Given the description of an element on the screen output the (x, y) to click on. 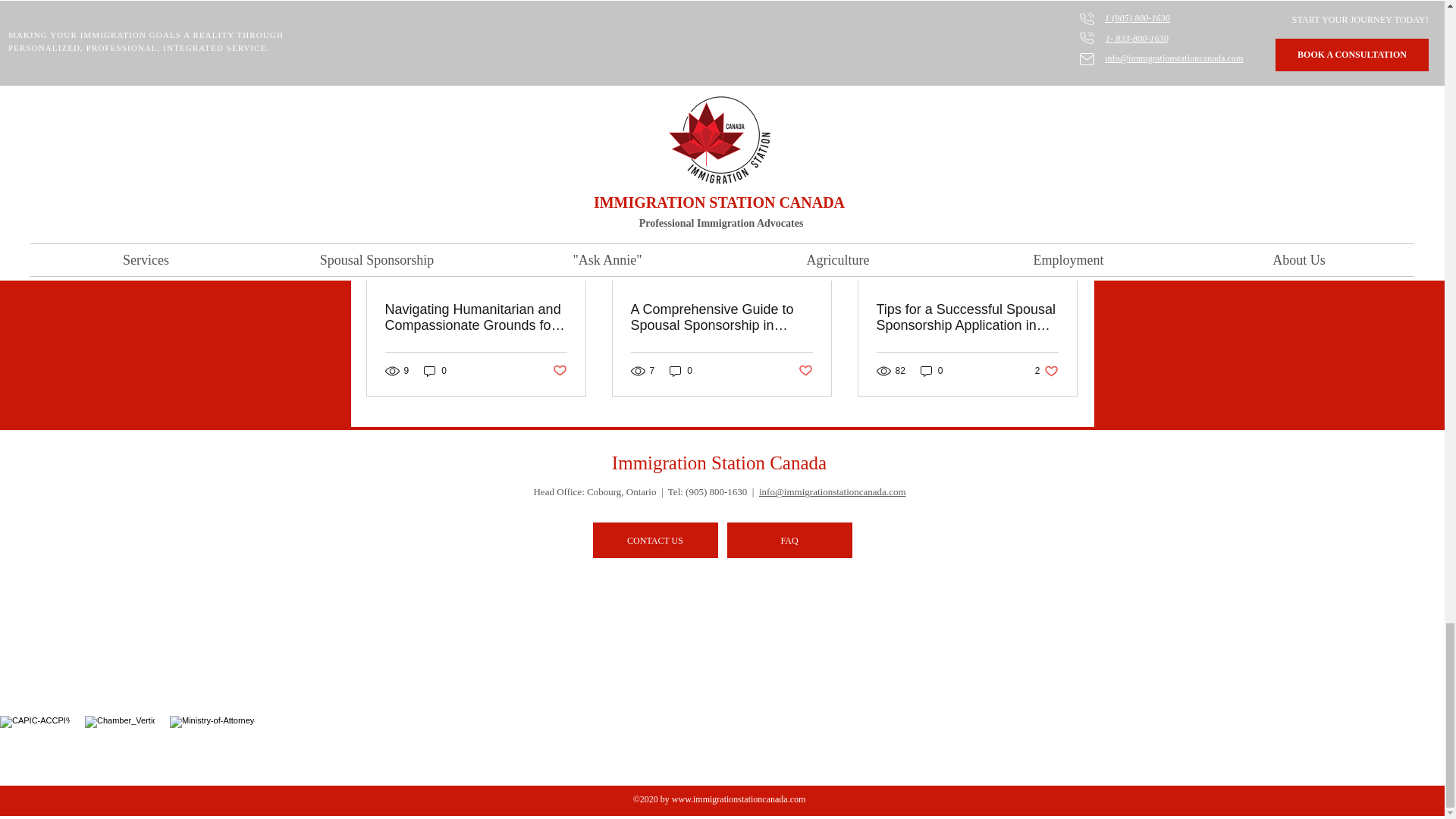
0 (435, 370)
Post not marked as liked (995, 50)
See All (1061, 133)
Family Sponsorship (956, 6)
